Given the description of an element on the screen output the (x, y) to click on. 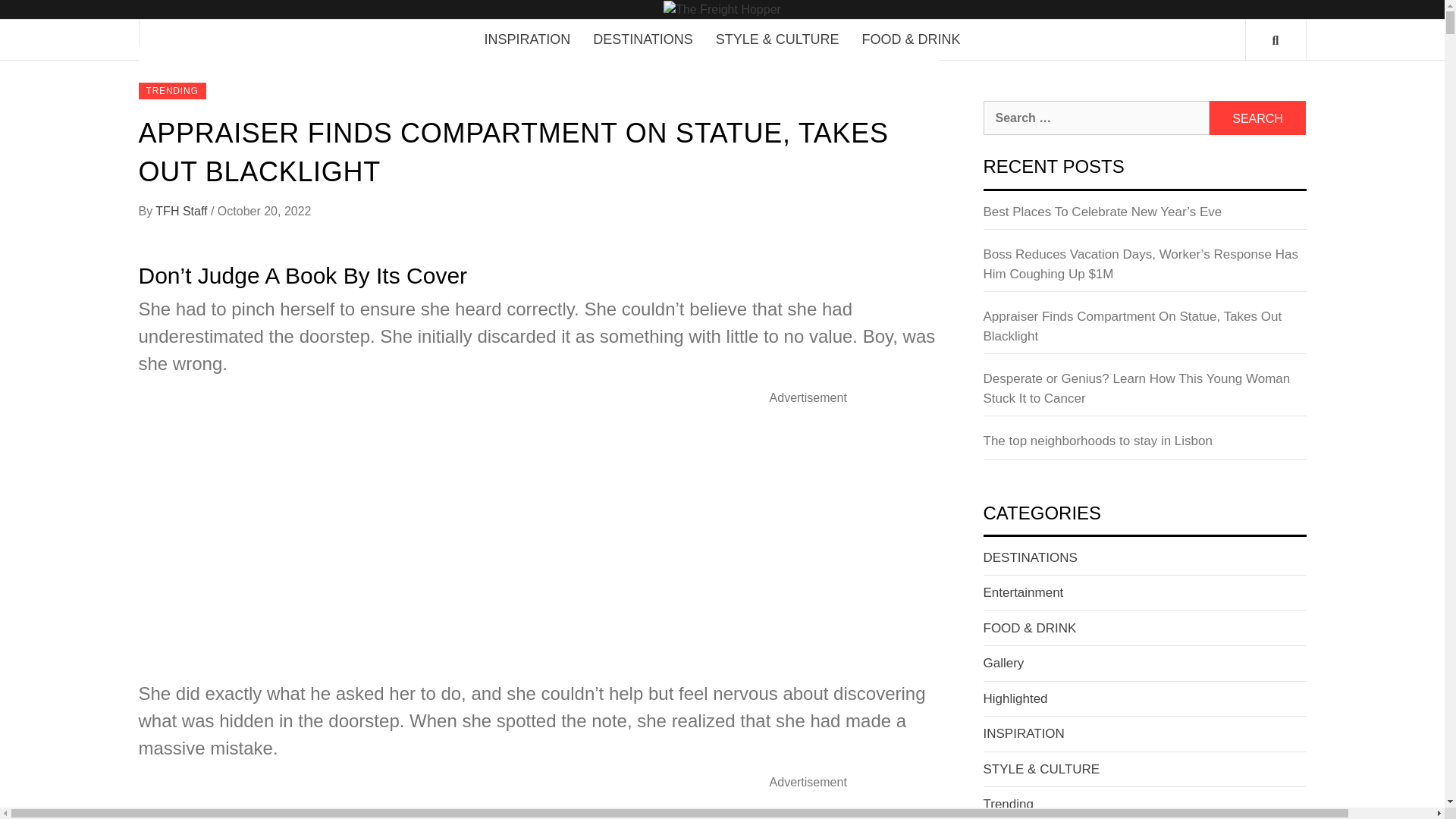
TRENDING (171, 90)
TFH Staff (183, 210)
INSPIRATION (1023, 733)
DESTINATIONS (1029, 557)
Gallery (1002, 663)
The top neighborhoods to stay in Lisbon (1144, 445)
Highlighted (1014, 698)
Appraiser Finds Compartment On Statue, Takes Out Blacklight (1144, 330)
INSPIRATION (525, 39)
THE FREIGHT HOPPER (986, 23)
DESTINATIONS (642, 39)
Search (1257, 117)
Entertainment (1022, 592)
Search (1257, 117)
